Given the description of an element on the screen output the (x, y) to click on. 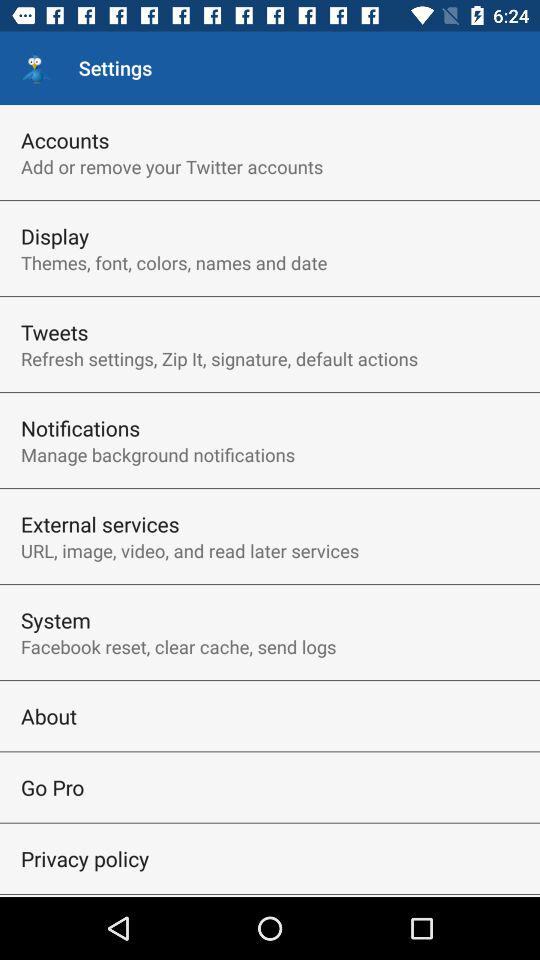
turn off the icon below the external services item (190, 550)
